Given the description of an element on the screen output the (x, y) to click on. 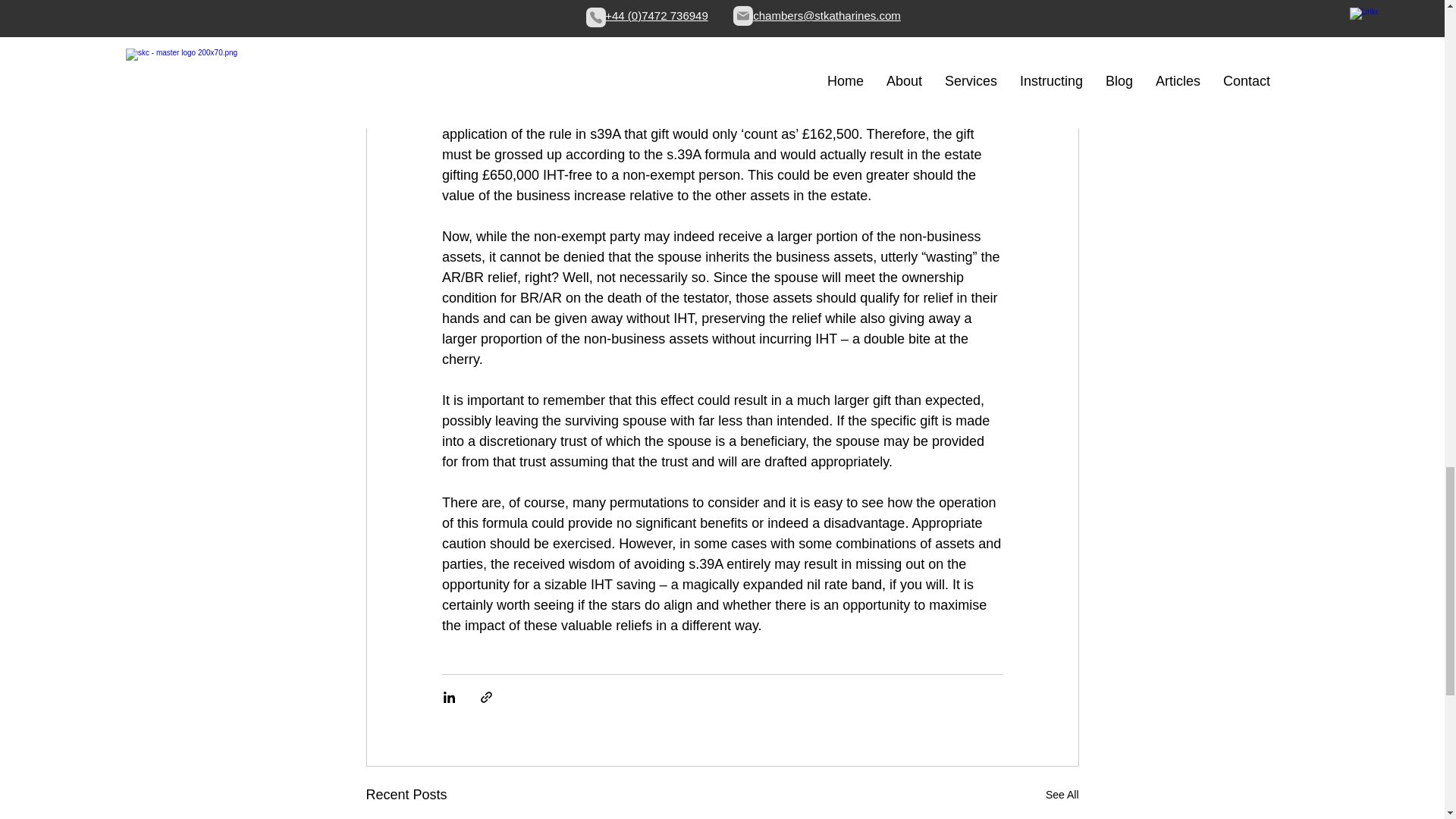
See All (1061, 794)
